Given the description of an element on the screen output the (x, y) to click on. 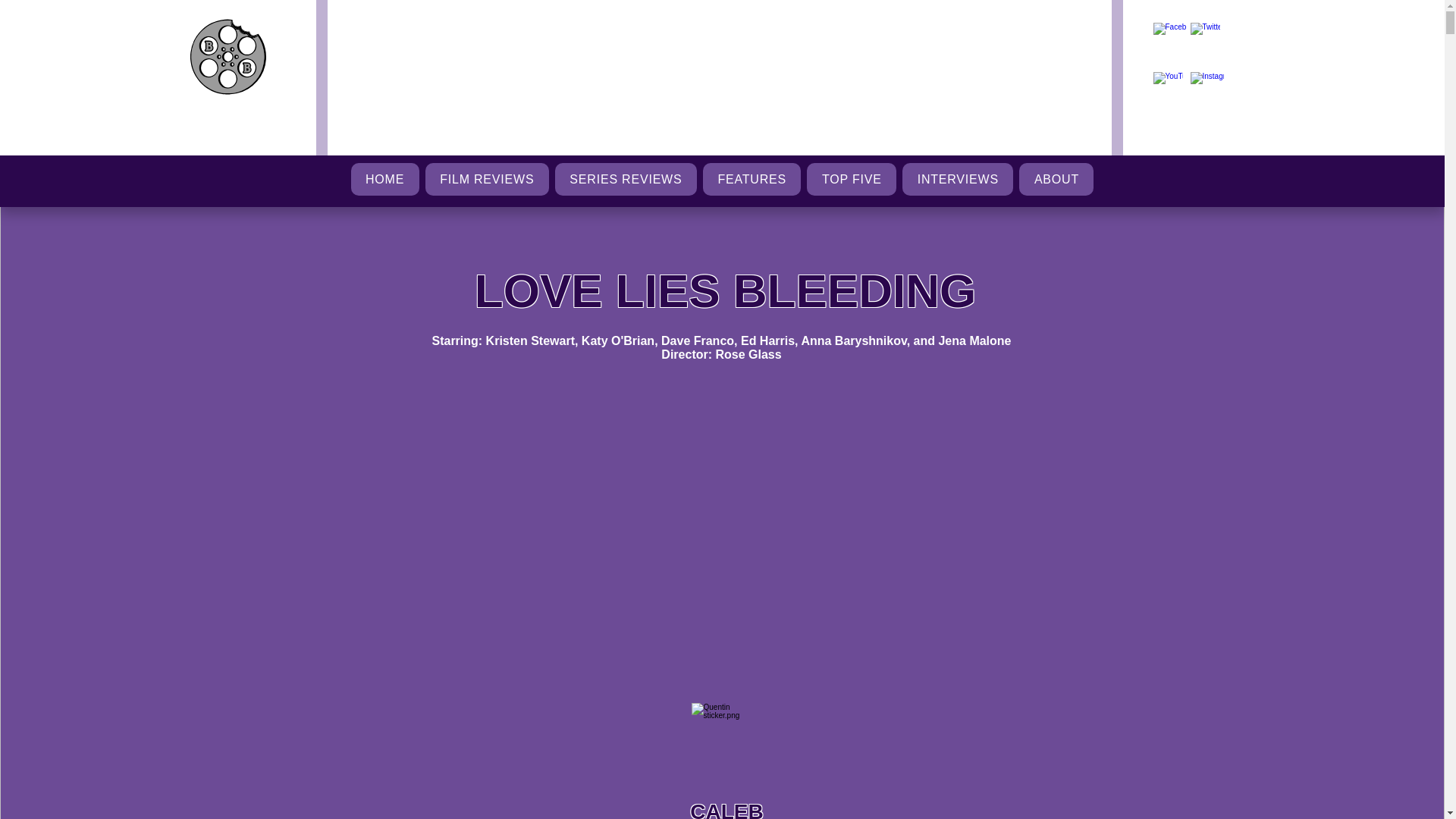
HOME (384, 178)
FILM REVIEWS (486, 178)
SERIES REVIEWS (625, 178)
TOP FIVE (851, 178)
FEATURES (752, 178)
ABOUT (1056, 178)
INTERVIEWS (957, 178)
